Given the description of an element on the screen output the (x, y) to click on. 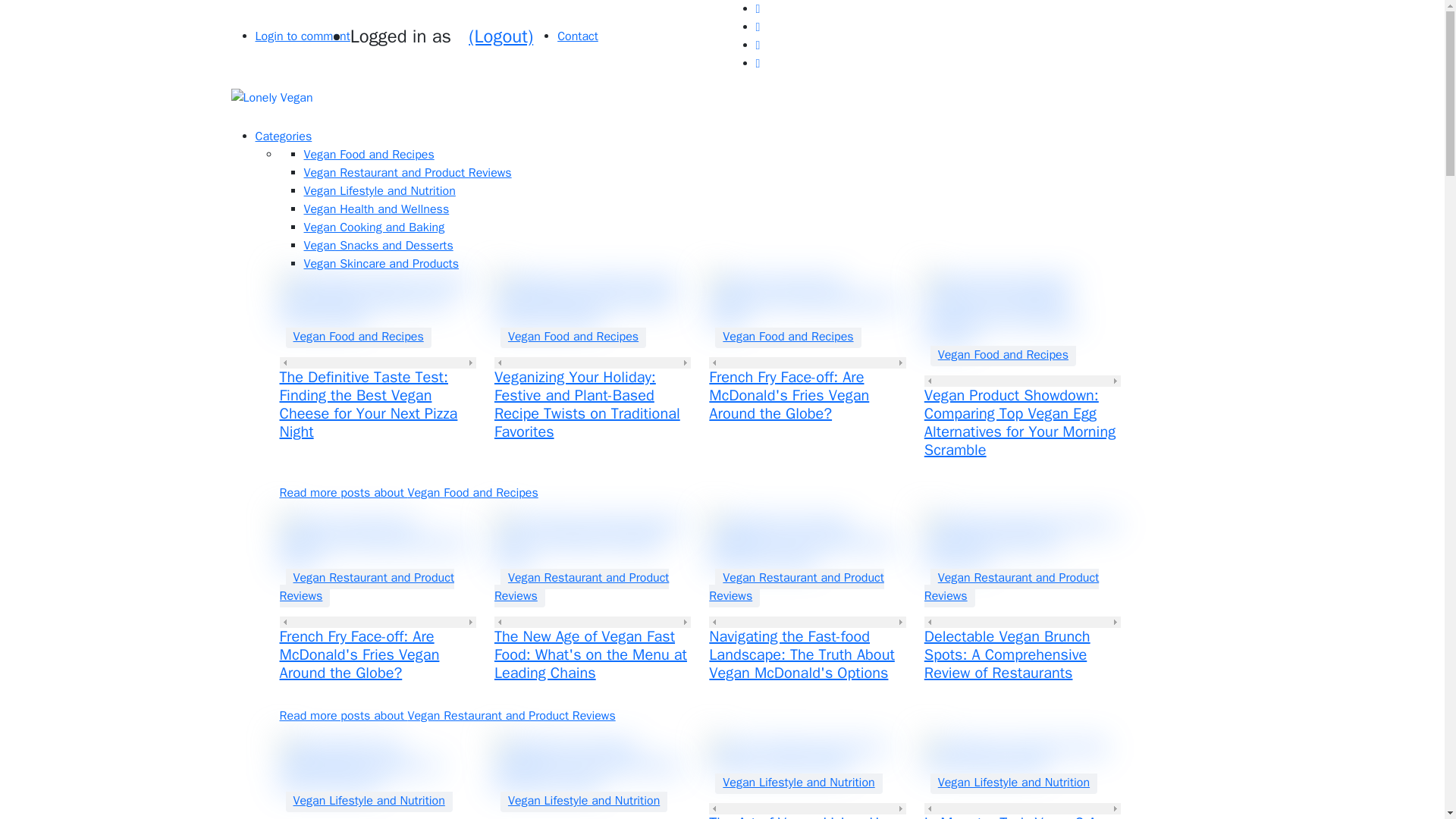
Vegan Restaurant and Product Reviews (1011, 586)
Vegan Food and Recipes (367, 154)
Vegan Snacks and Desserts (377, 245)
Vegan Lifestyle and Nutrition (378, 191)
Vegan Restaurant and Product Reviews (581, 586)
Vegan Food and Recipes (787, 336)
Vegan Food and Recipes (357, 336)
Vegan Cooking and Baking (373, 227)
